Given the description of an element on the screen output the (x, y) to click on. 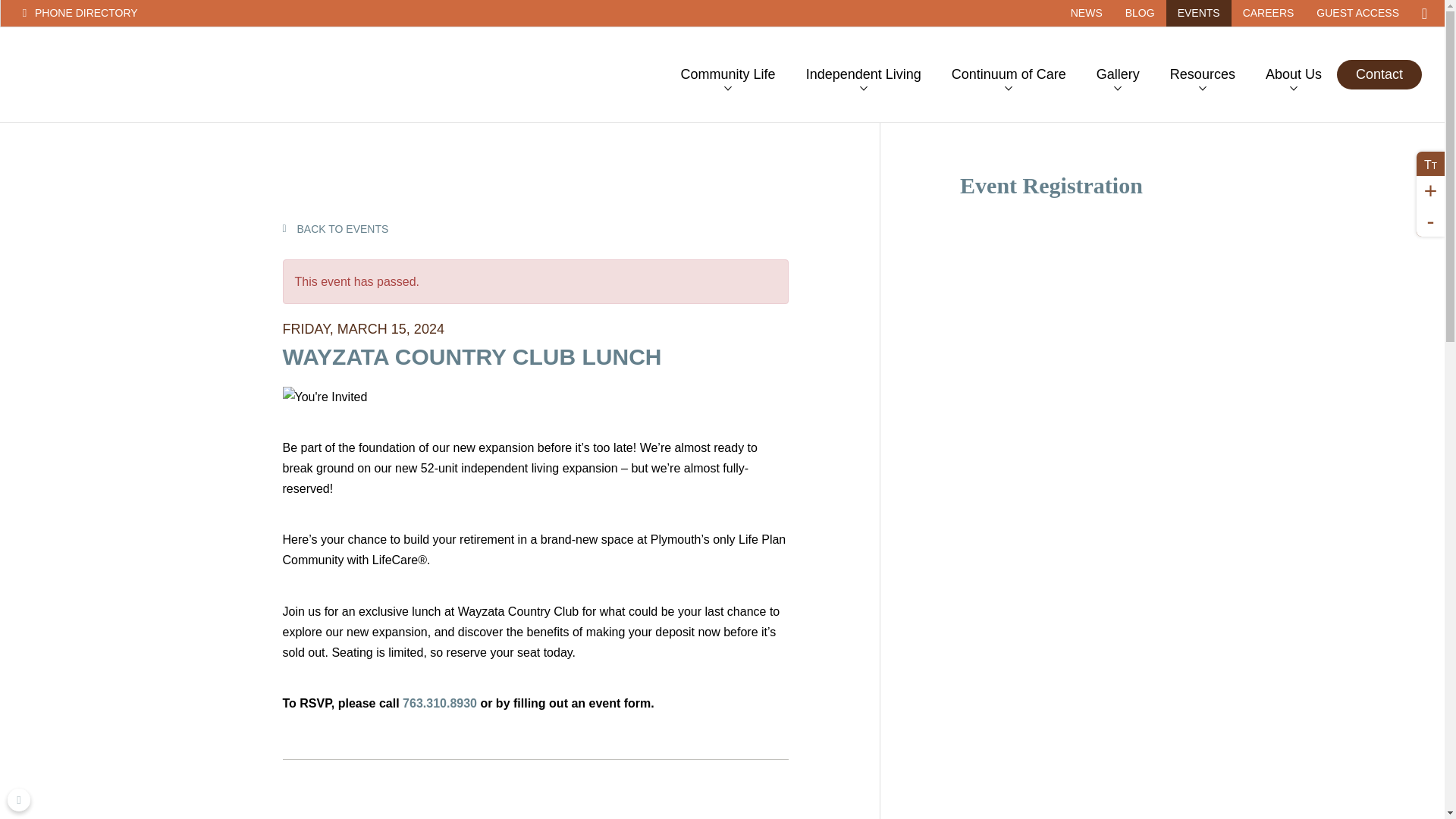
Resources (1202, 74)
Continuum of Care (1008, 74)
About Us (1293, 74)
GUEST ACCESS (1357, 13)
NEWS (1086, 13)
CAREERS (1268, 13)
BACK TO EVENTS (335, 228)
EVENTS (1198, 13)
Independent Living (863, 74)
BLOG (1139, 13)
Community Life (727, 74)
Contact (1379, 74)
Trillium Woods (109, 74)
Gallery (1117, 74)
PHONE DIRECTORY (132, 13)
